Given the description of an element on the screen output the (x, y) to click on. 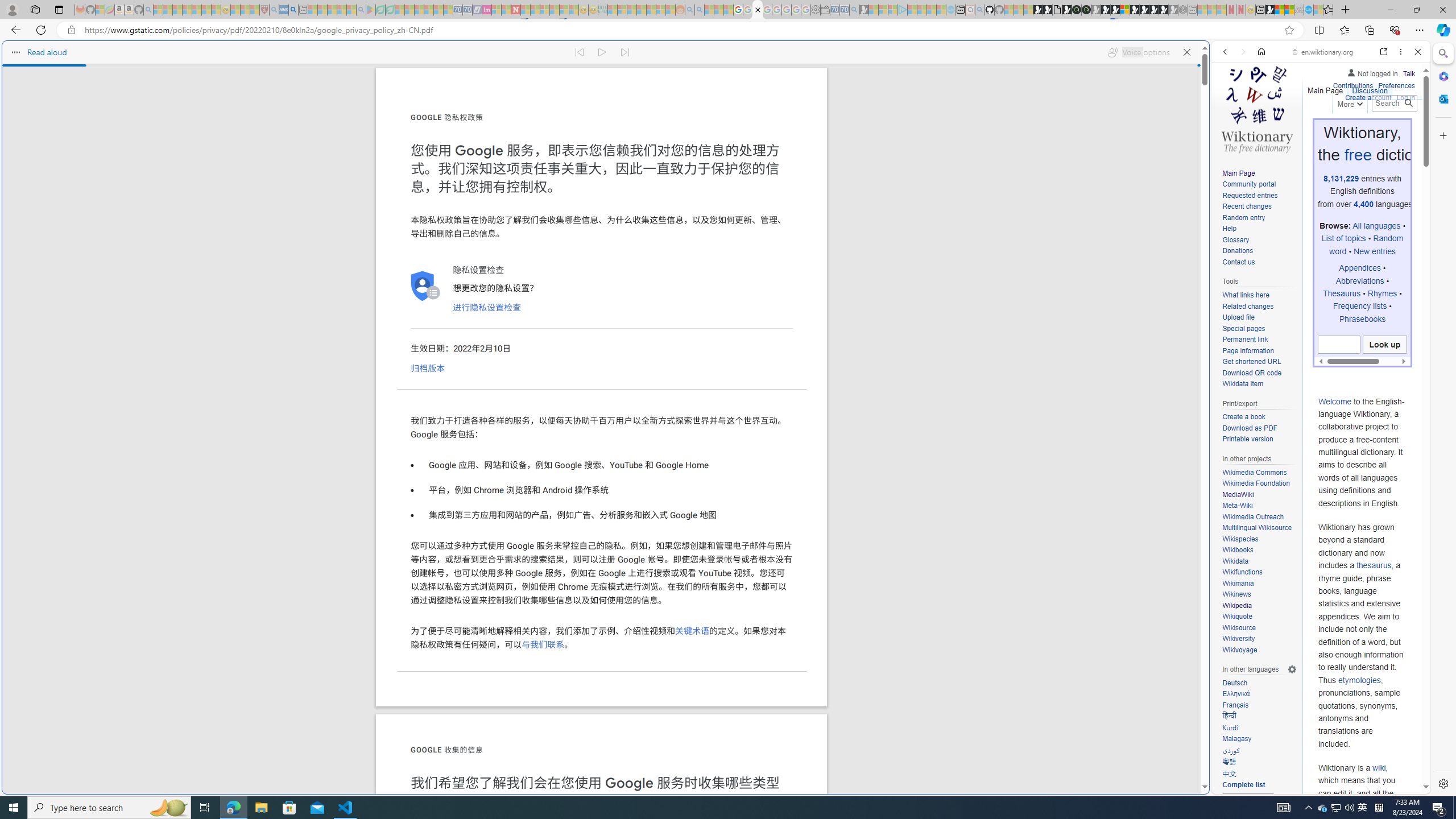
Contact us (1259, 262)
Wallet - Sleeping (824, 9)
Wikisource (1259, 627)
Main Page (1259, 173)
utah sues federal government - Search (292, 9)
New tab - Sleeping (1192, 9)
Talk (1408, 71)
